Given the description of an element on the screen output the (x, y) to click on. 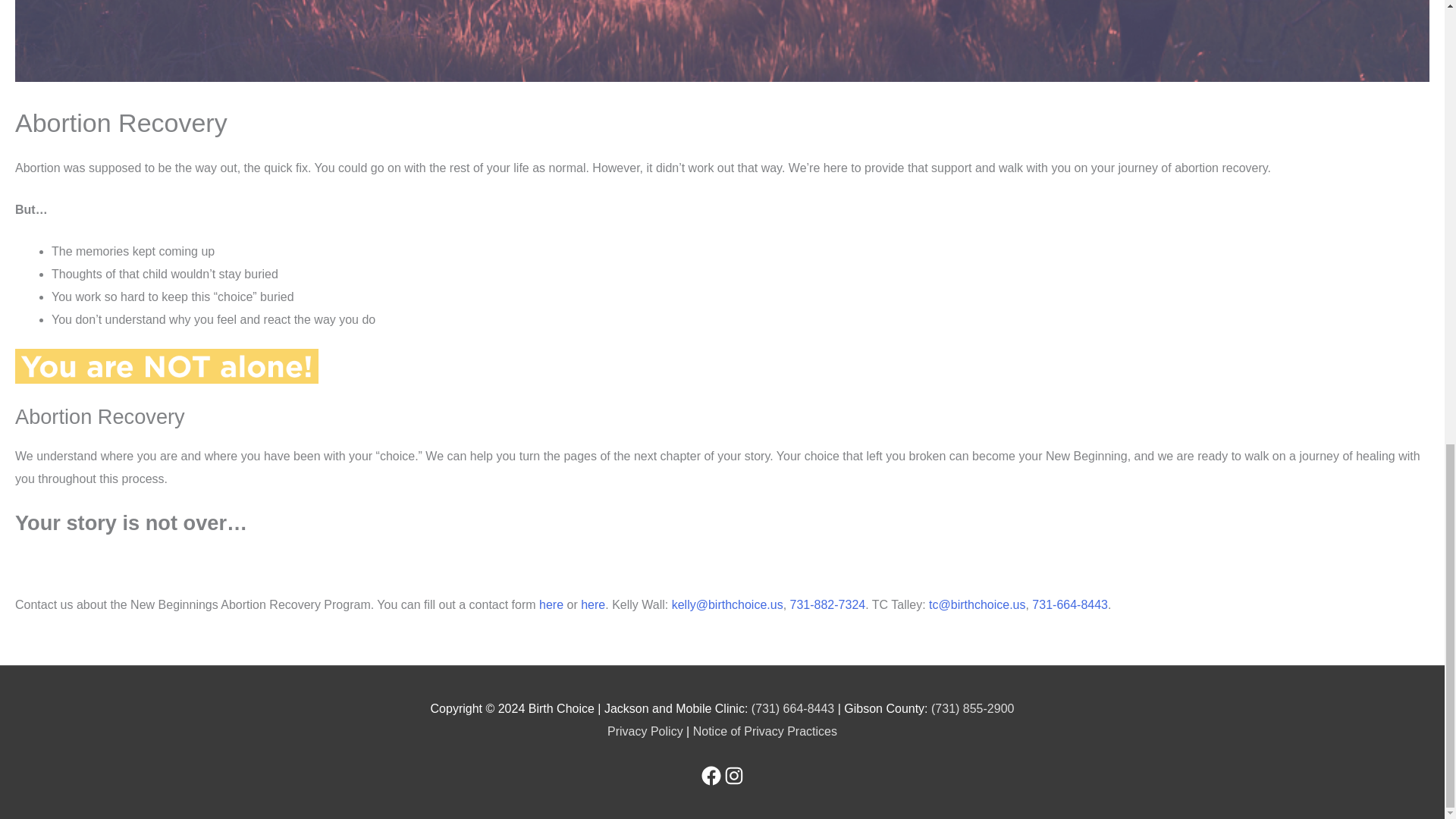
731-882-7324 (828, 604)
731-664-8443 (1070, 604)
Instagram (733, 775)
Facebook (710, 775)
here (592, 604)
here (550, 604)
Notice of Privacy Practices (765, 730)
Privacy Policy (644, 730)
